Given the description of an element on the screen output the (x, y) to click on. 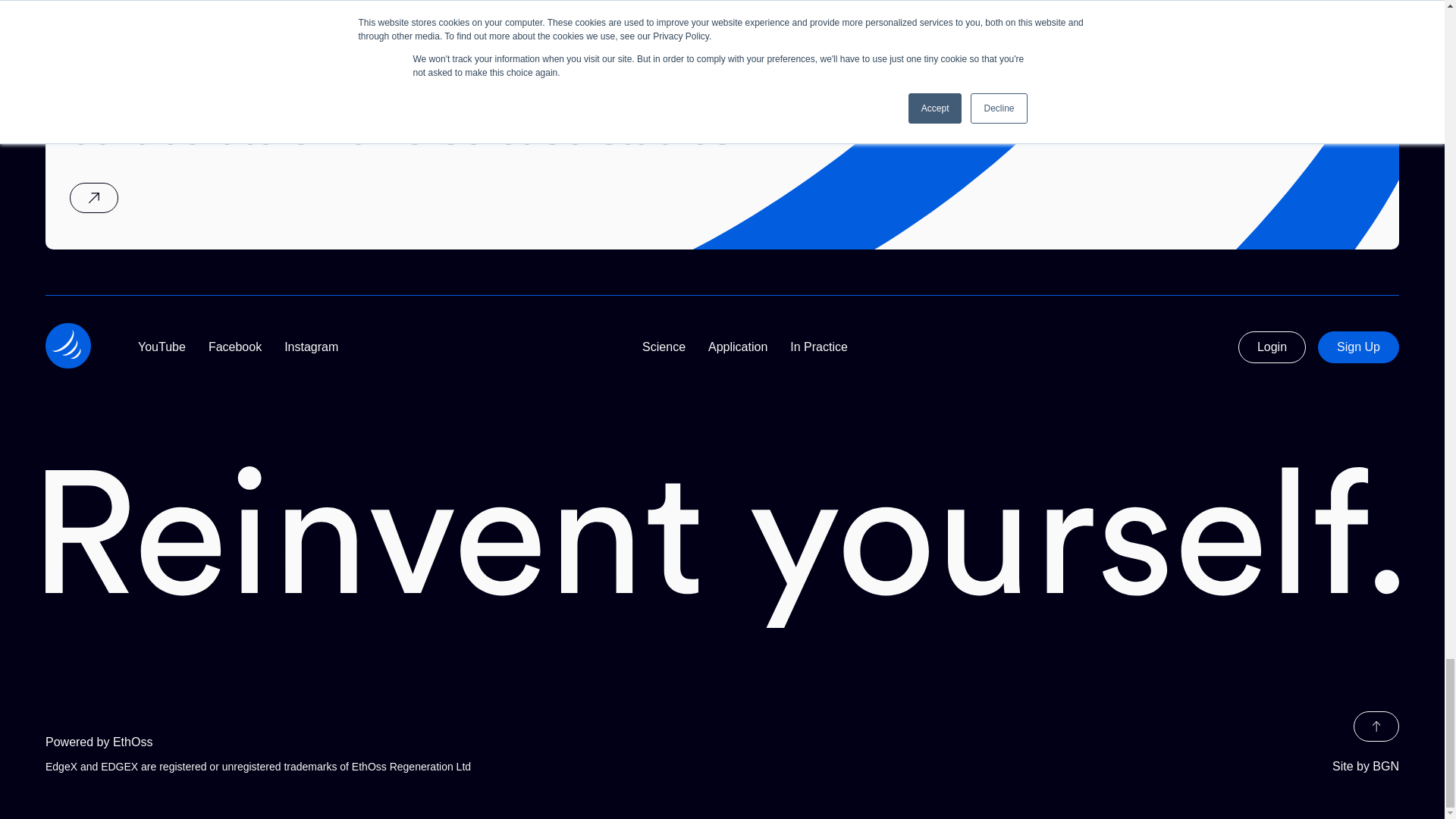
Facebook (235, 346)
YouTube (162, 346)
Site by BGN (1365, 766)
Login (1272, 347)
Powered by EthOss (383, 742)
In Practice (818, 346)
Application (737, 346)
Science (663, 346)
Sign Up (1358, 347)
Instagram (310, 346)
